Given the description of an element on the screen output the (x, y) to click on. 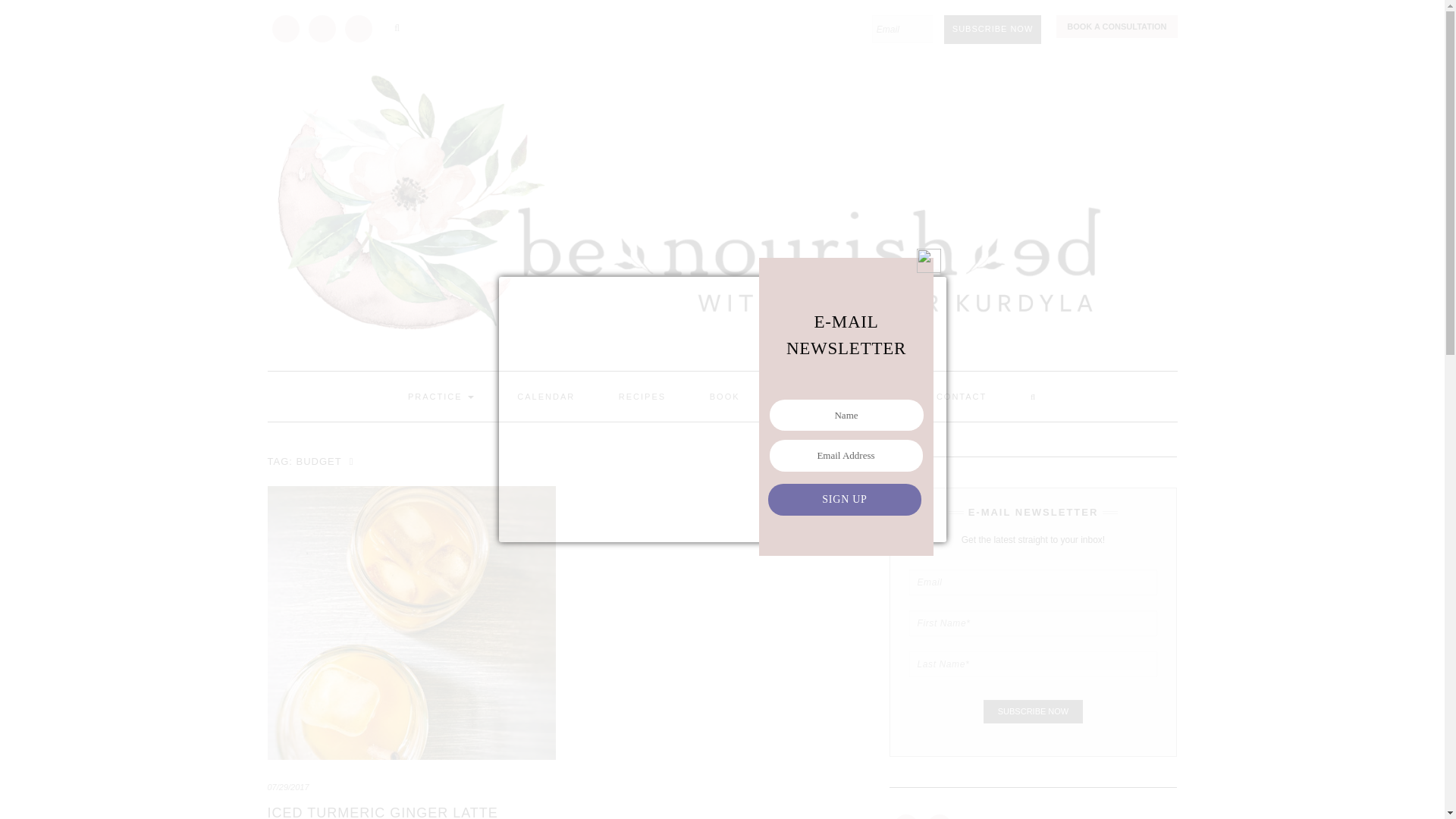
Spotify (357, 28)
BOOK (724, 396)
ABOUT (873, 396)
Subscribe now (992, 29)
Instagram (320, 28)
Spotify (358, 29)
Iced turmeric Ginger Latte (381, 812)
CONTACT (961, 396)
RECIPES (641, 396)
Subscribe now (1033, 711)
Email (285, 29)
PRACTICE (441, 396)
BLOG (797, 396)
Subscribe now (1033, 711)
Subscribe now (992, 29)
